Given the description of an element on the screen output the (x, y) to click on. 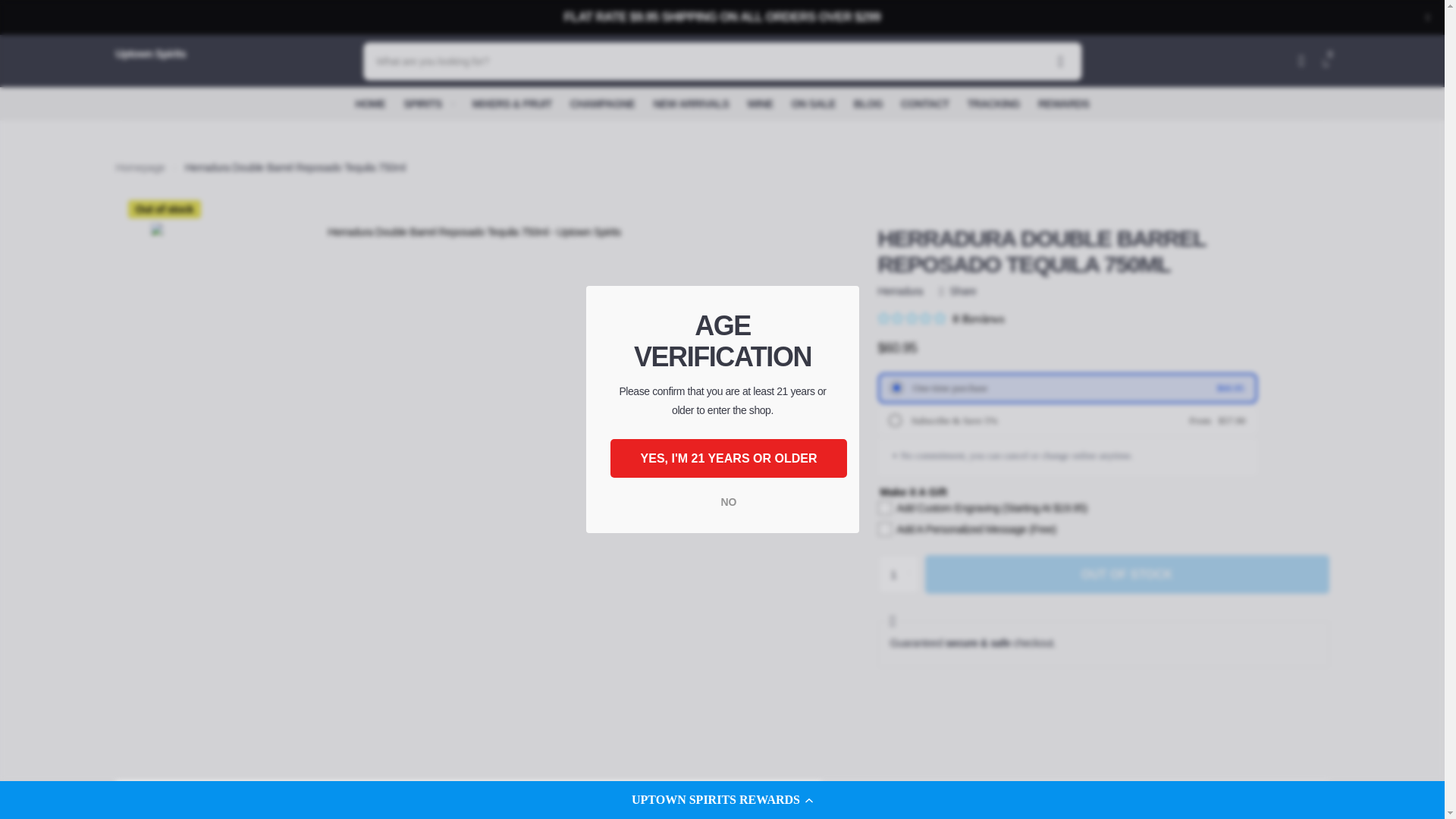
Close (1427, 17)
HOME (370, 103)
1 (897, 574)
Home (139, 167)
ZOEKEN (1060, 61)
0 Reviews (940, 318)
689839603988 (892, 418)
SPIRITS (428, 103)
